Given the description of an element on the screen output the (x, y) to click on. 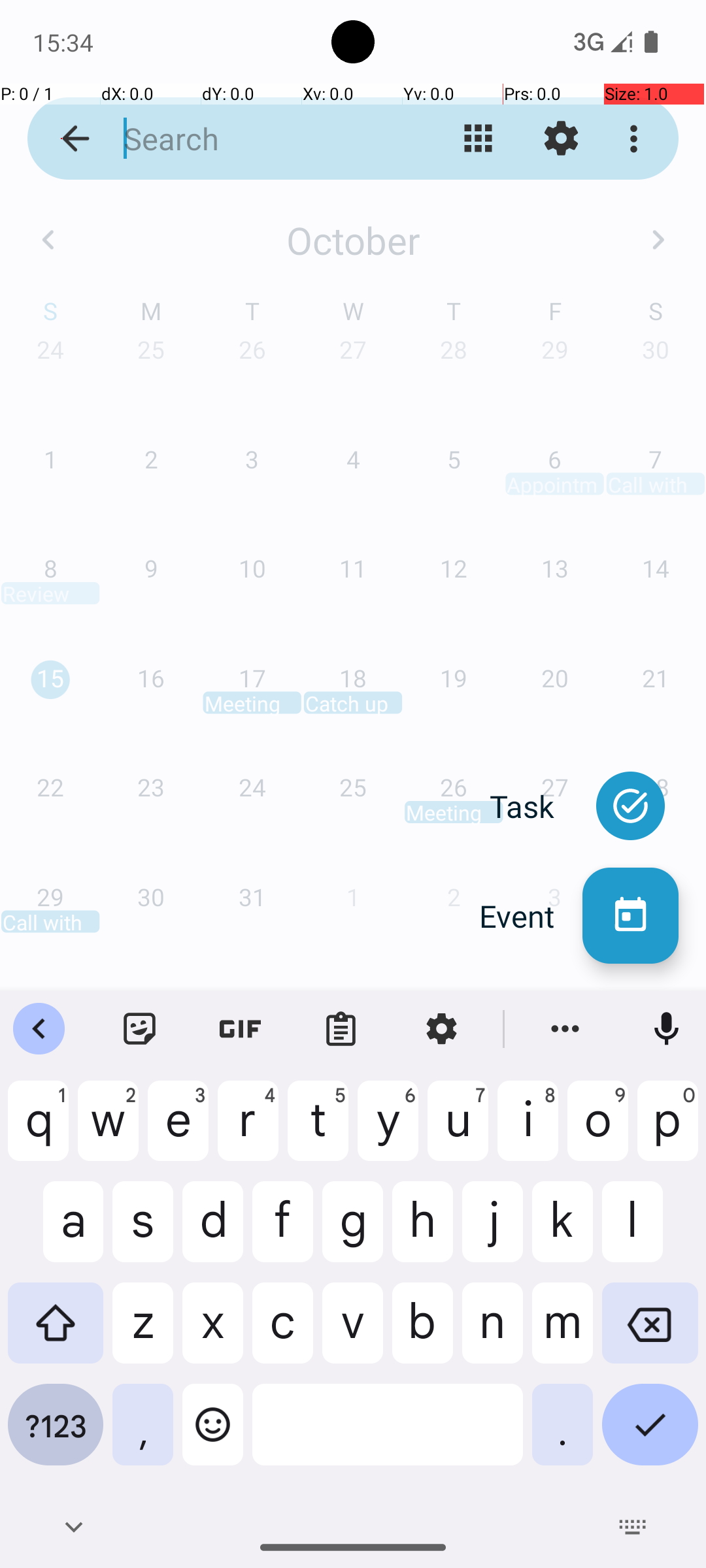
Change view Element type: android.widget.Button (477, 138)
Task Element type: android.widget.TextView (535, 805)
Event Element type: android.widget.TextView (530, 915)
New Event Element type: android.widget.ImageButton (630, 915)
October Element type: android.widget.TextView (352, 239)
